Given the description of an element on the screen output the (x, y) to click on. 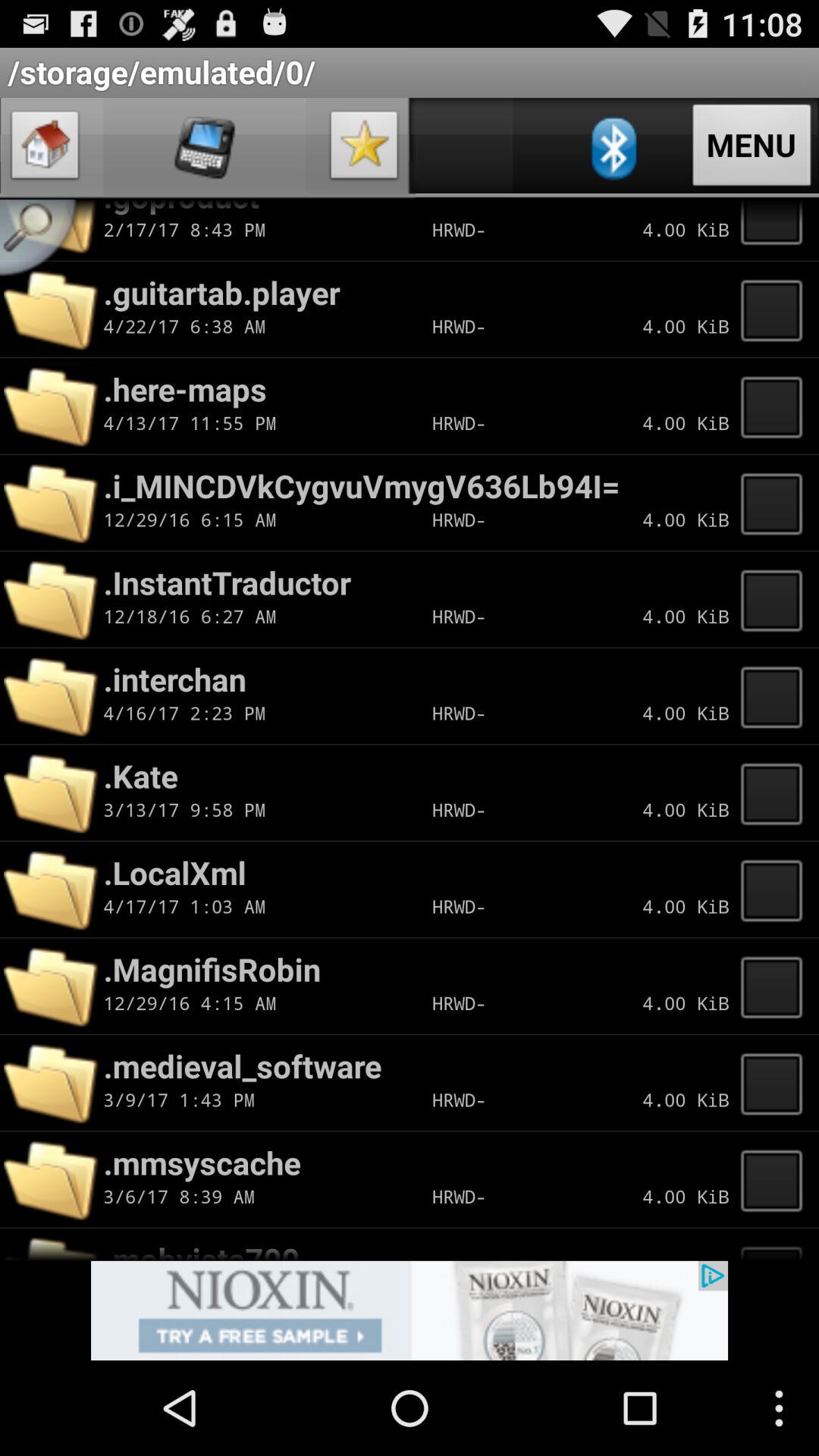
load advert (409, 1310)
